Given the description of an element on the screen output the (x, y) to click on. 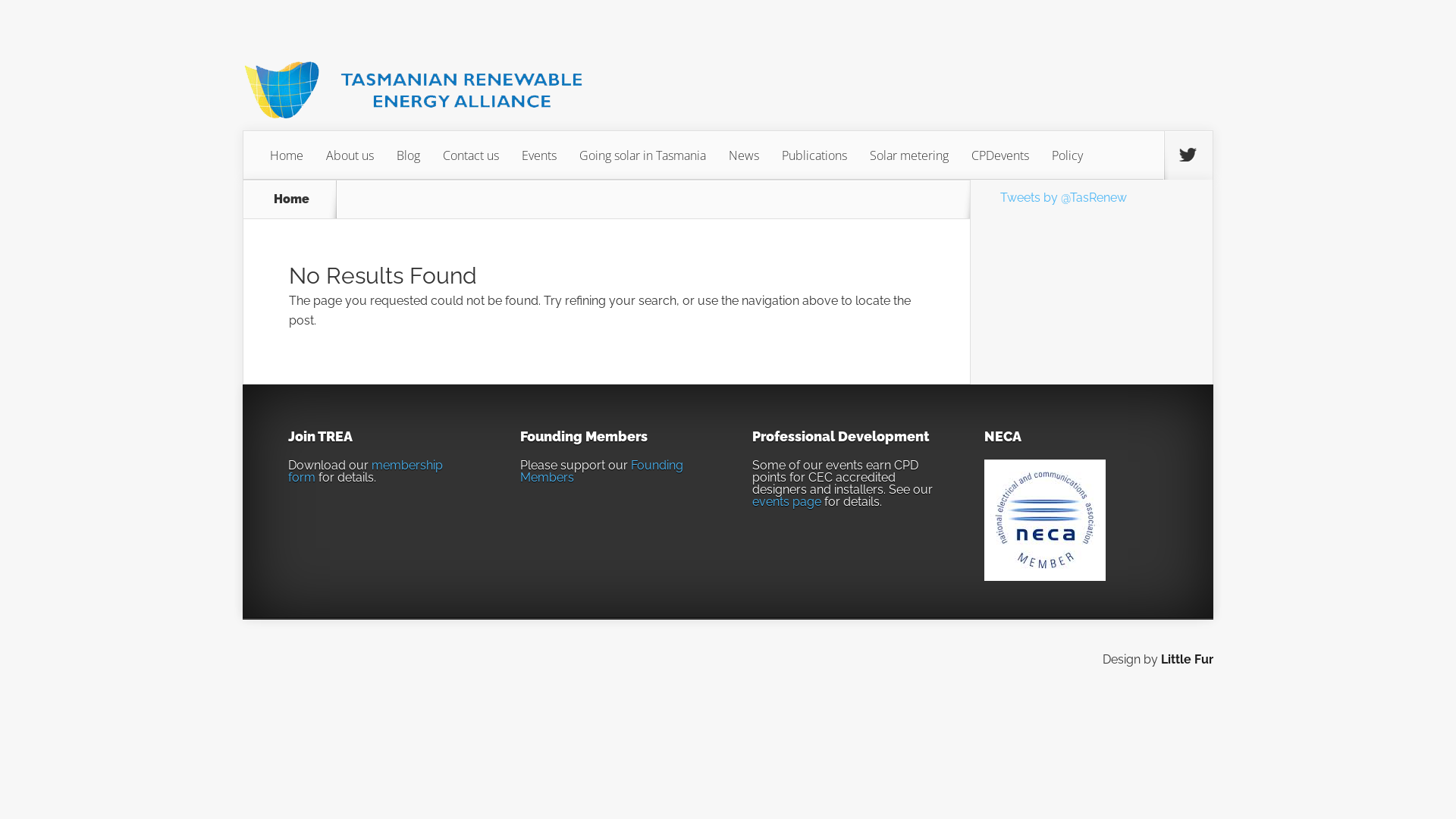
events page Element type: text (786, 501)
Going solar in Tasmania Element type: text (642, 155)
Policy Element type: text (1067, 155)
About us Element type: text (349, 155)
Blog Element type: text (408, 155)
Contact us Element type: text (470, 155)
CPDevents Element type: text (1000, 155)
Events Element type: text (538, 155)
Founding Members Element type: text (601, 471)
Home Element type: text (286, 155)
Follow us on Twitter Element type: text (1187, 155)
Tweets by @TasRenew Element type: text (1063, 197)
Home Element type: text (291, 199)
News Element type: text (743, 155)
membership form Element type: text (365, 471)
Publications Element type: text (814, 155)
Solar metering Element type: text (909, 155)
